Given the description of an element on the screen output the (x, y) to click on. 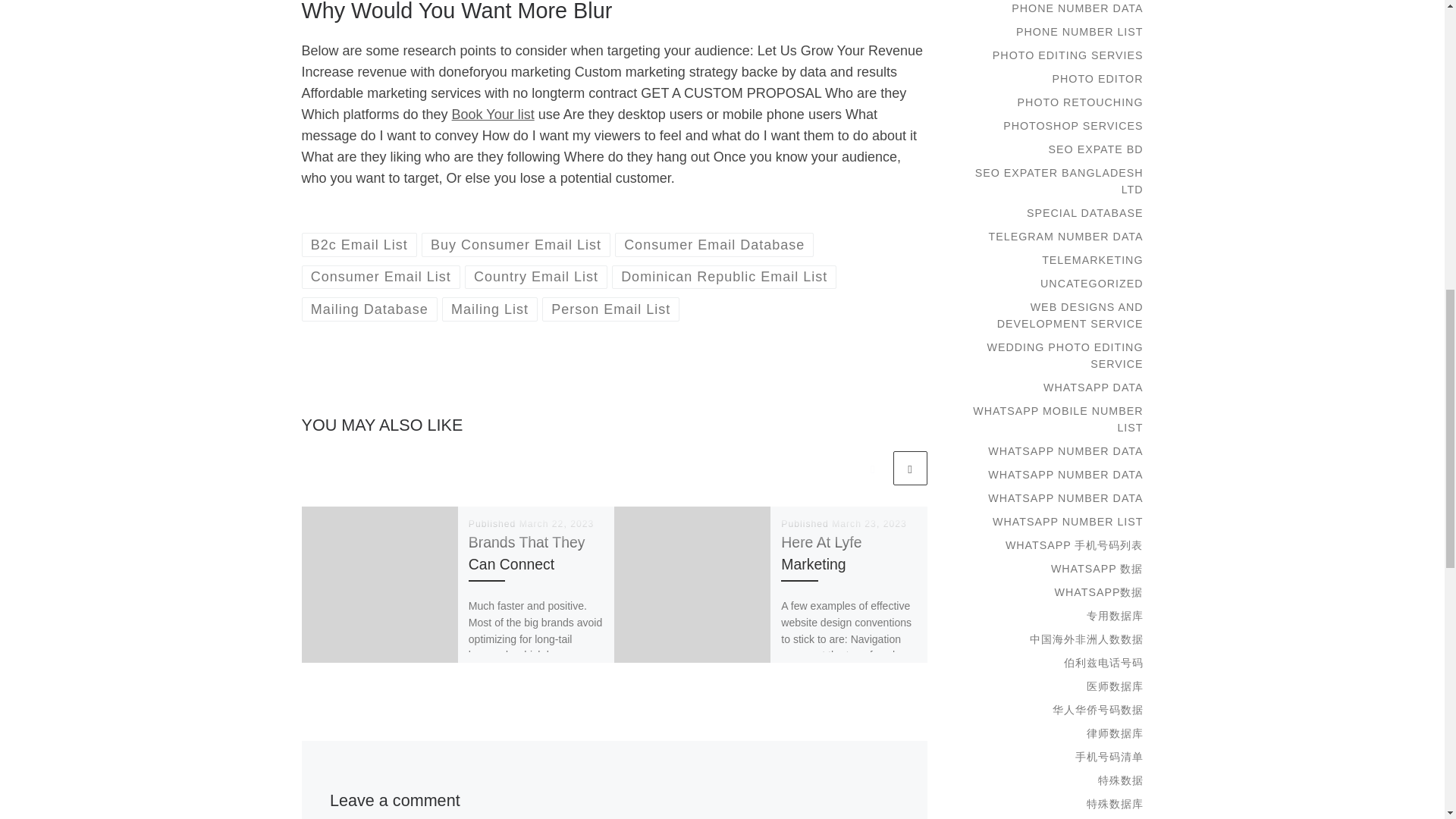
B2c Email List (359, 244)
View all posts in Consumer Email Database (713, 244)
Consumer Email List (381, 277)
Mailing List (490, 309)
Here At Lyfe Marketing (820, 552)
View all posts in Dominican Republic Email List (724, 277)
March 23, 2023 (869, 523)
Dominican Republic Email List (724, 277)
March 22, 2023 (556, 523)
View all posts in Mailing List (490, 309)
View all posts in B2c Email List (359, 244)
Country Email List (536, 277)
View all posts in Buy Consumer Email List (516, 244)
Buy Consumer Email List (516, 244)
View all posts in Mailing Database (369, 309)
